Given the description of an element on the screen output the (x, y) to click on. 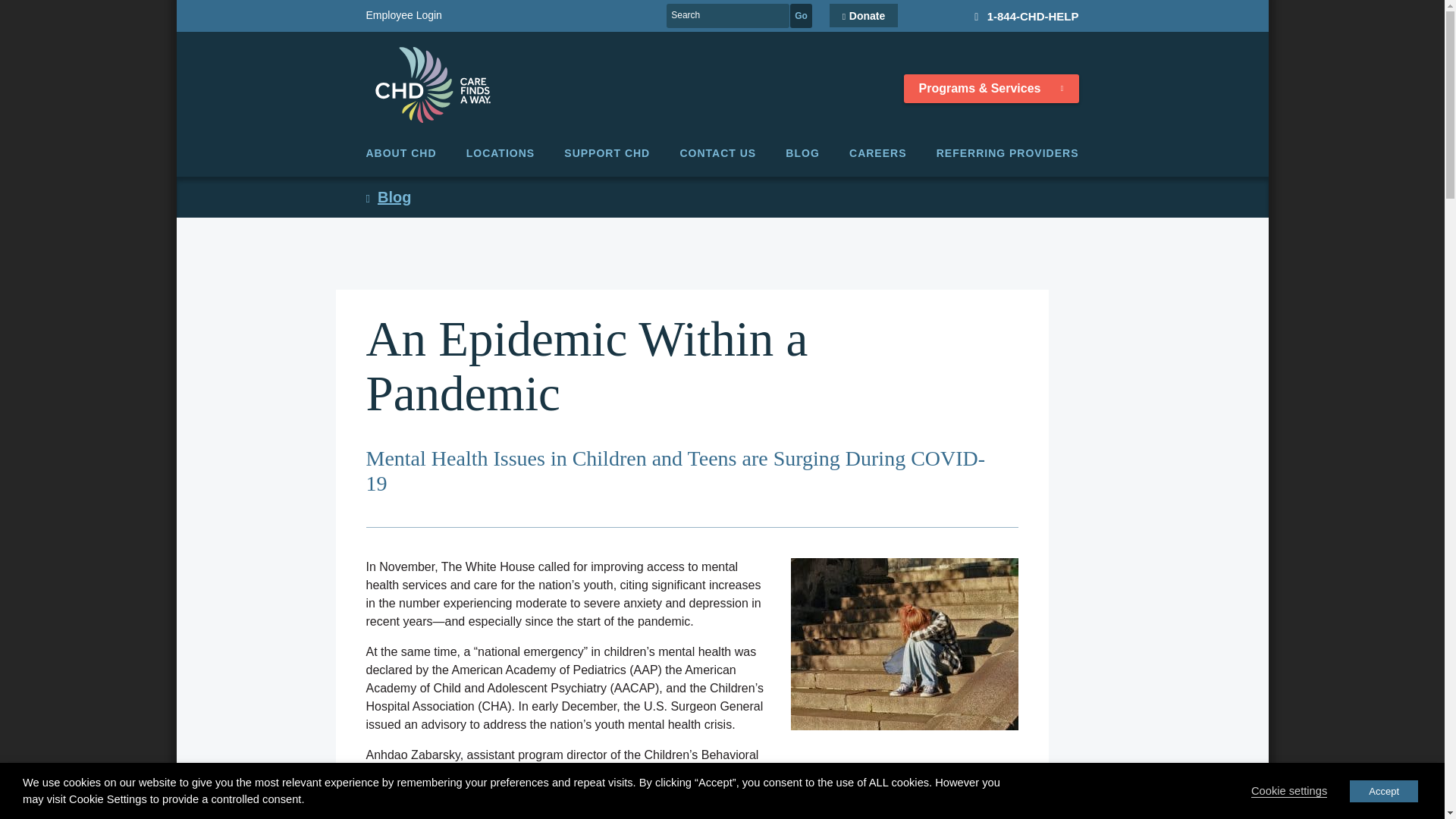
CONTACT US (716, 153)
ABOUT CHD (401, 153)
CAREERS (877, 153)
SUPPORT CHD (607, 153)
Go (801, 15)
Back to top (1416, 790)
Blog (387, 197)
REFERRING PROVIDERS (1007, 153)
Employee Login (515, 15)
BLOG (802, 153)
LOCATIONS (499, 153)
Search for: (727, 15)
Go (801, 15)
1-844-CHD-HELP (1019, 15)
Donate (863, 15)
